Given the description of an element on the screen output the (x, y) to click on. 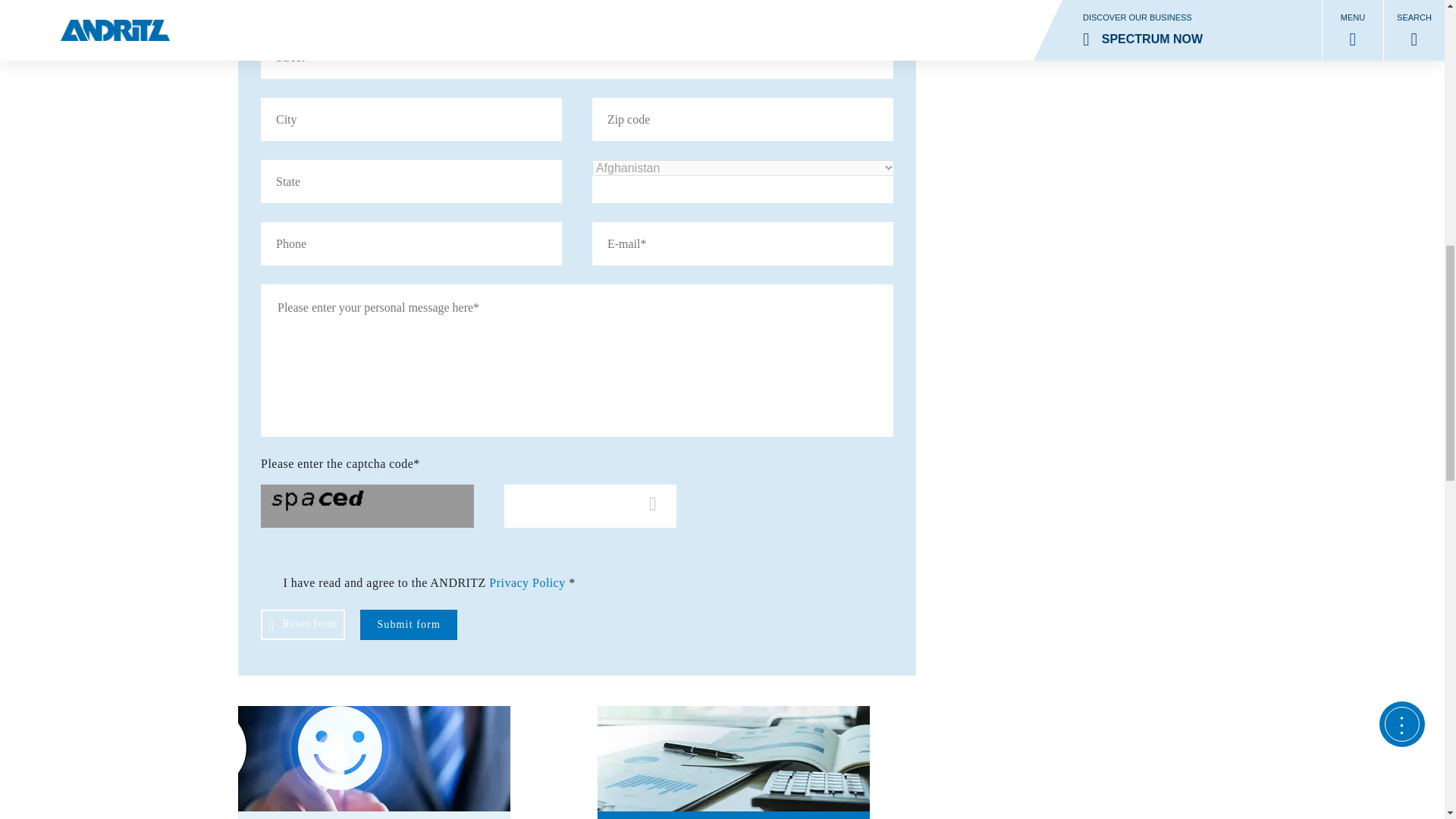
Submit form (408, 624)
Privacy Policy (527, 582)
Reset form (302, 624)
